Given the description of an element on the screen output the (x, y) to click on. 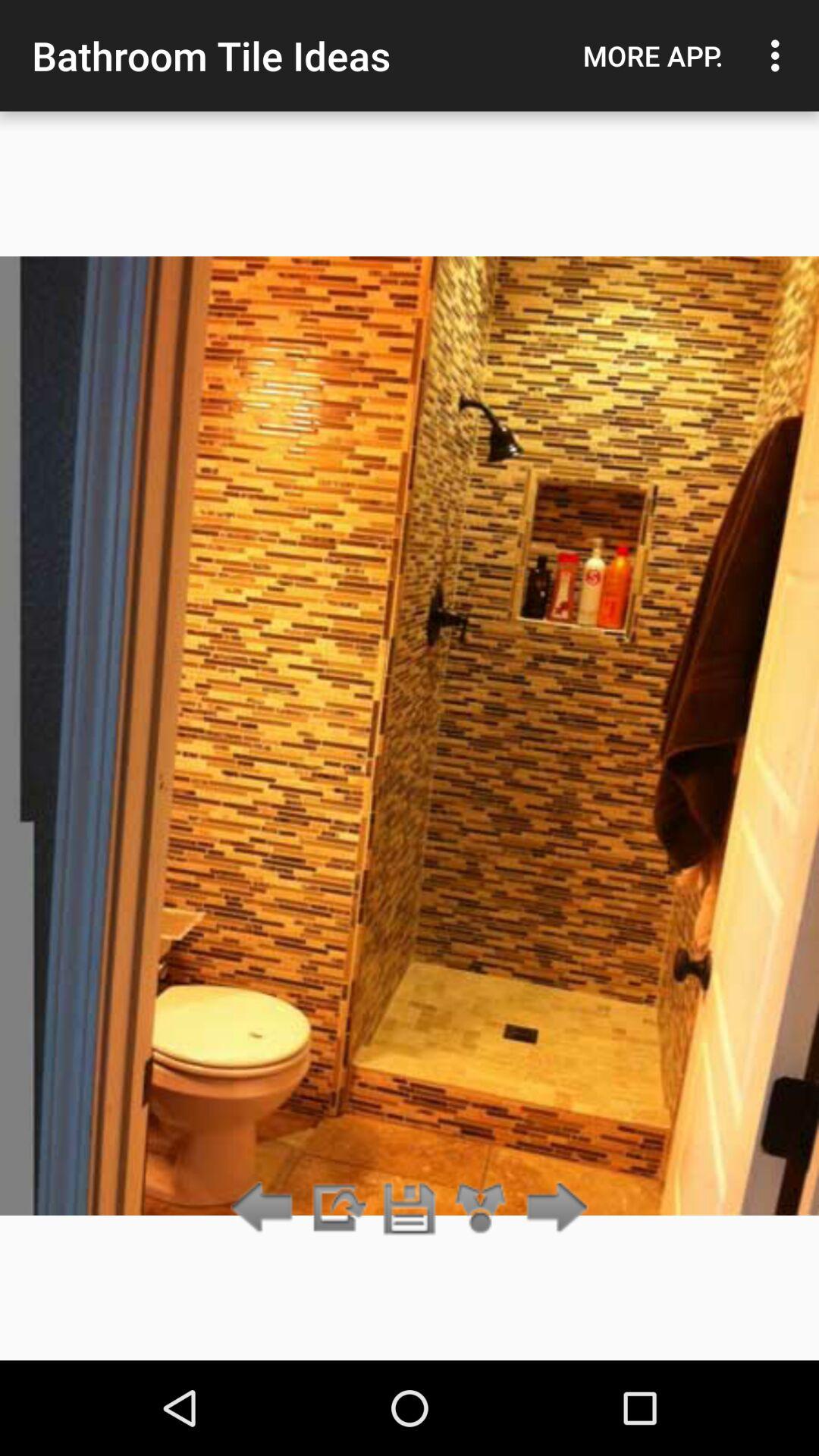
select item next to the more app. (779, 55)
